Given the description of an element on the screen output the (x, y) to click on. 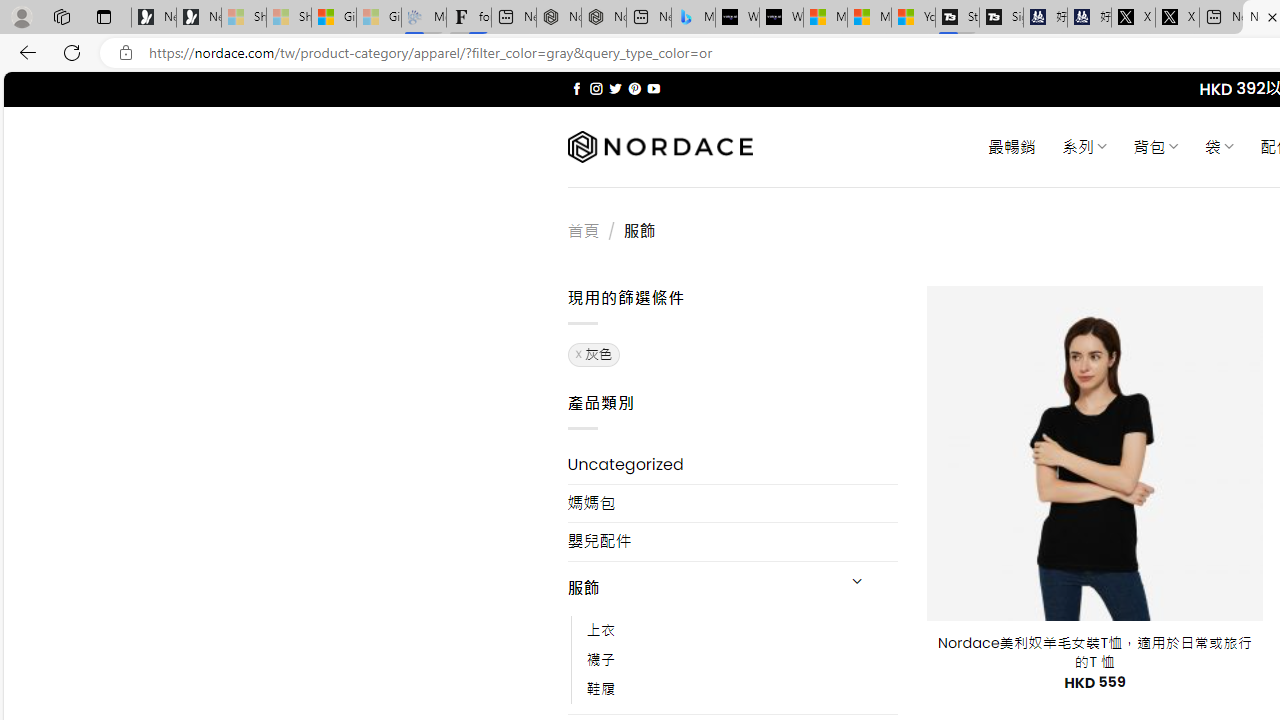
Streaming Coverage | T3 (957, 17)
